Given the description of an element on the screen output the (x, y) to click on. 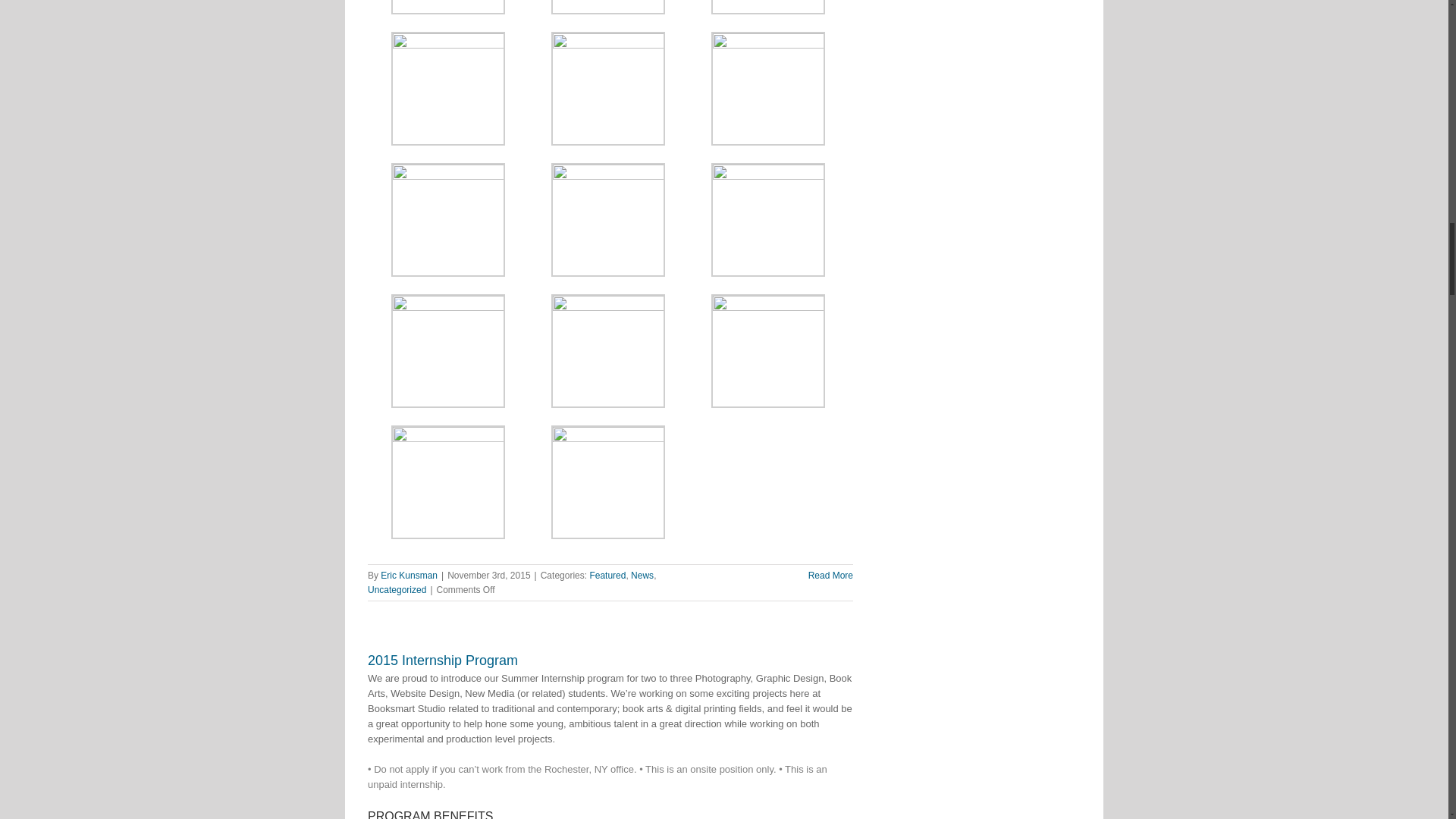
Posts by Eric Kunsman (409, 575)
